Given the description of an element on the screen output the (x, y) to click on. 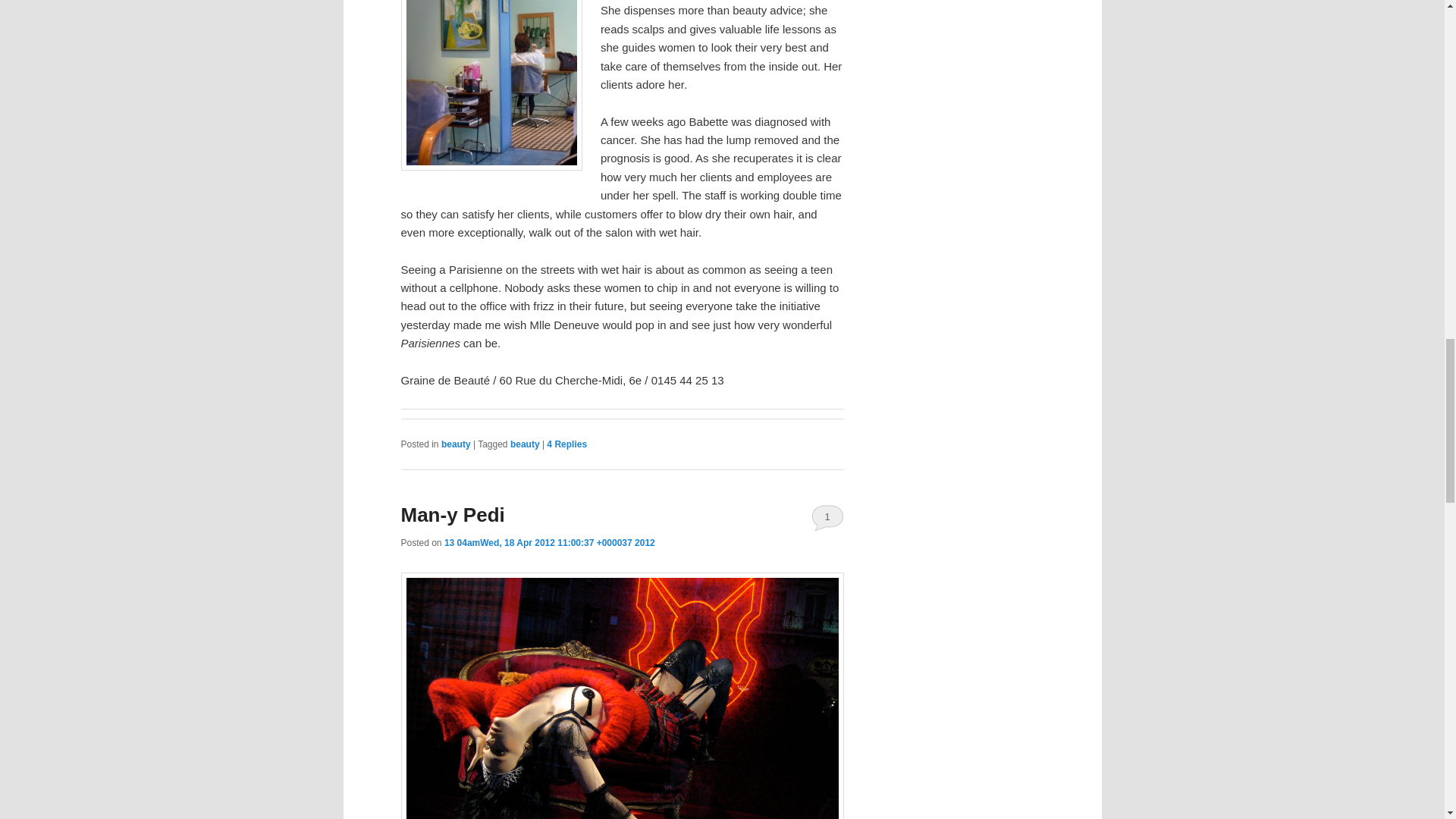
1 (827, 516)
4 Replies (566, 443)
Man-y Pedi (451, 514)
beauty (525, 443)
beauty (455, 443)
11:00 am (549, 542)
Galeries Lafayette Christmas windows (621, 695)
